Given the description of an element on the screen output the (x, y) to click on. 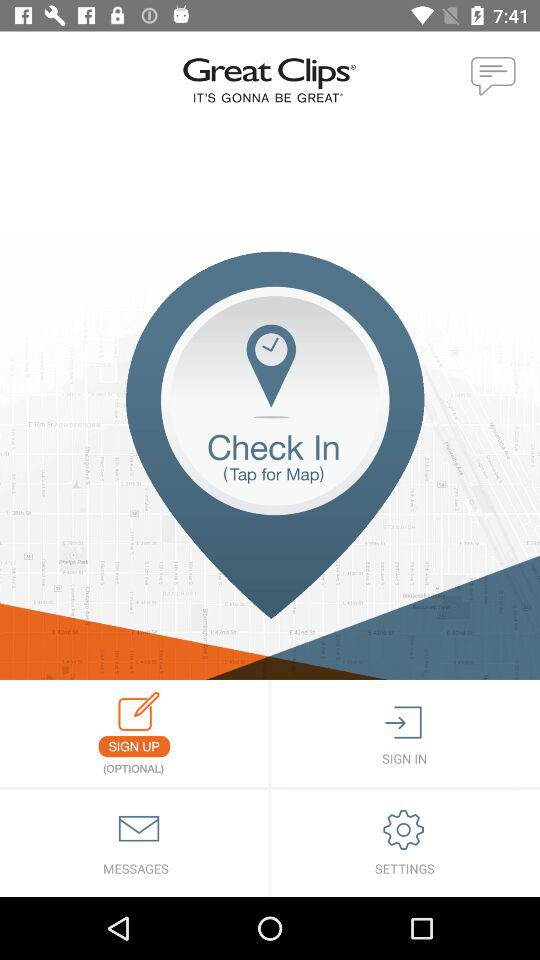
chat message (494, 77)
